Given the description of an element on the screen output the (x, y) to click on. 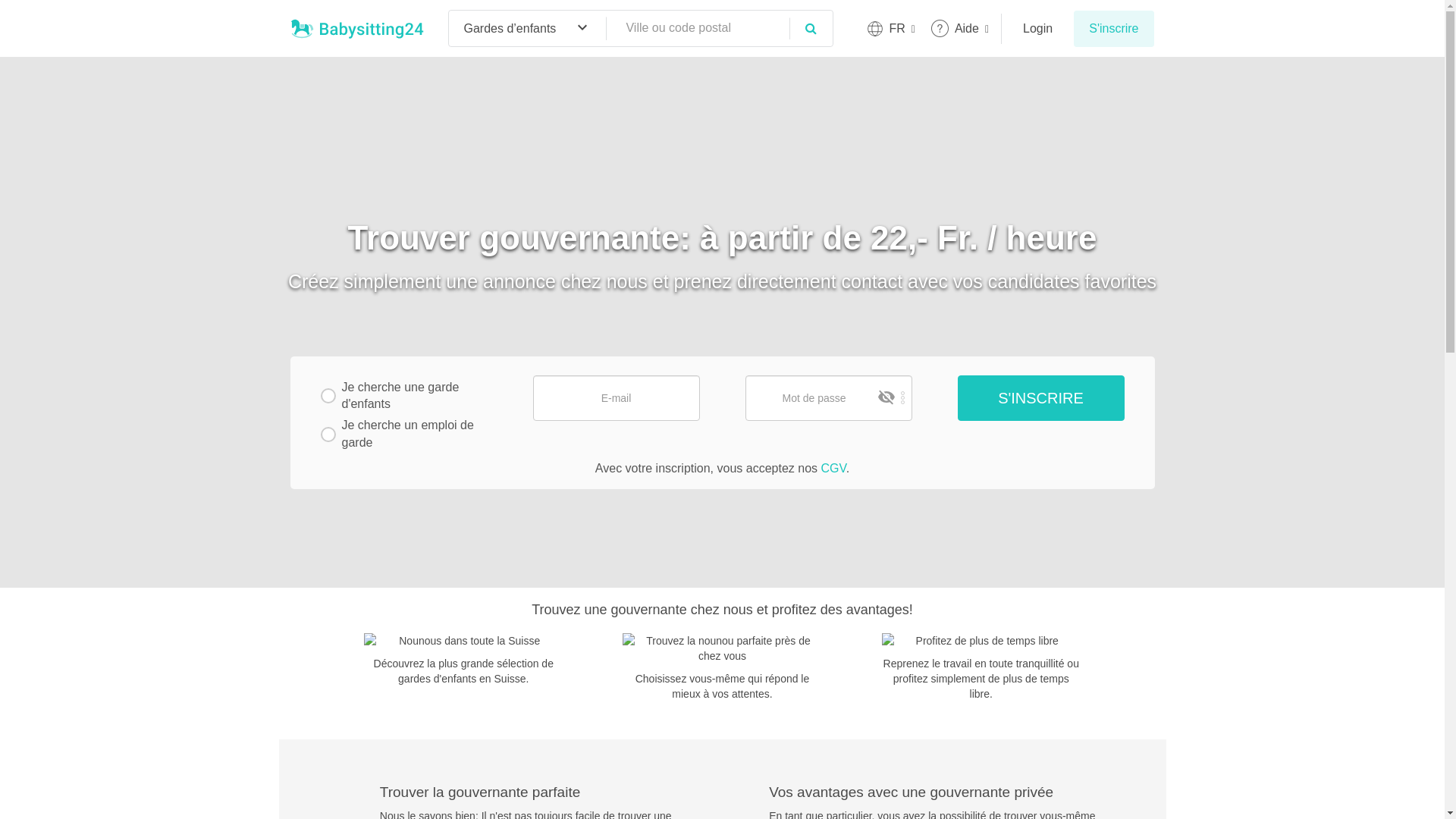
Login Element type: text (1037, 28)
CGV Element type: text (832, 467)
S'inscrire Element type: text (1040, 397)
Aide Element type: text (959, 28)
S'inscrire Element type: text (1113, 28)
